Given the description of an element on the screen output the (x, y) to click on. 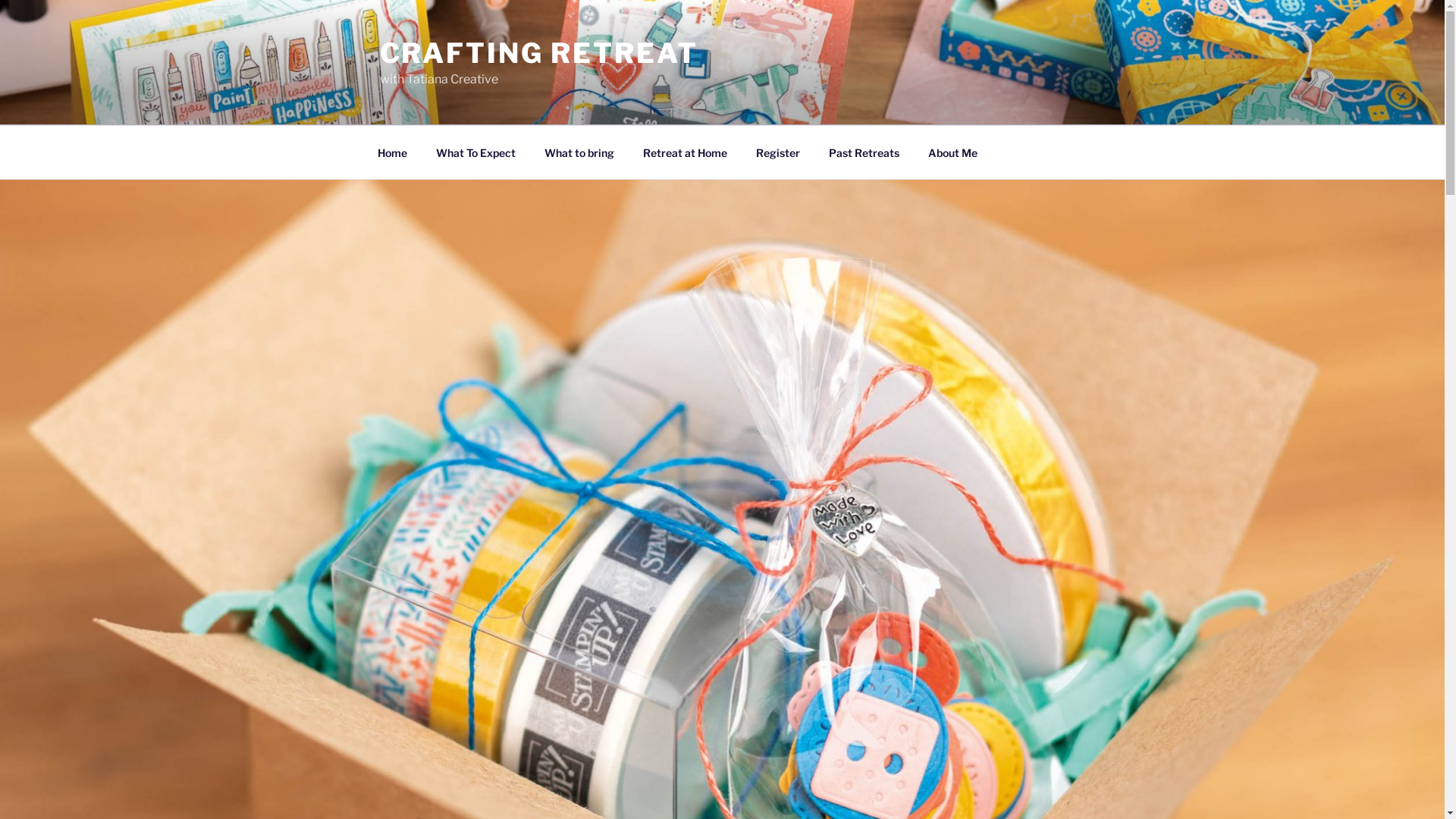
Retreat at Home Element type: text (684, 151)
What To Expect Element type: text (476, 151)
About Me Element type: text (952, 151)
Home Element type: text (392, 151)
CRAFTING RETREAT Element type: text (538, 52)
What to bring Element type: text (578, 151)
Register Element type: text (778, 151)
Past Retreats Element type: text (864, 151)
